Given the description of an element on the screen output the (x, y) to click on. 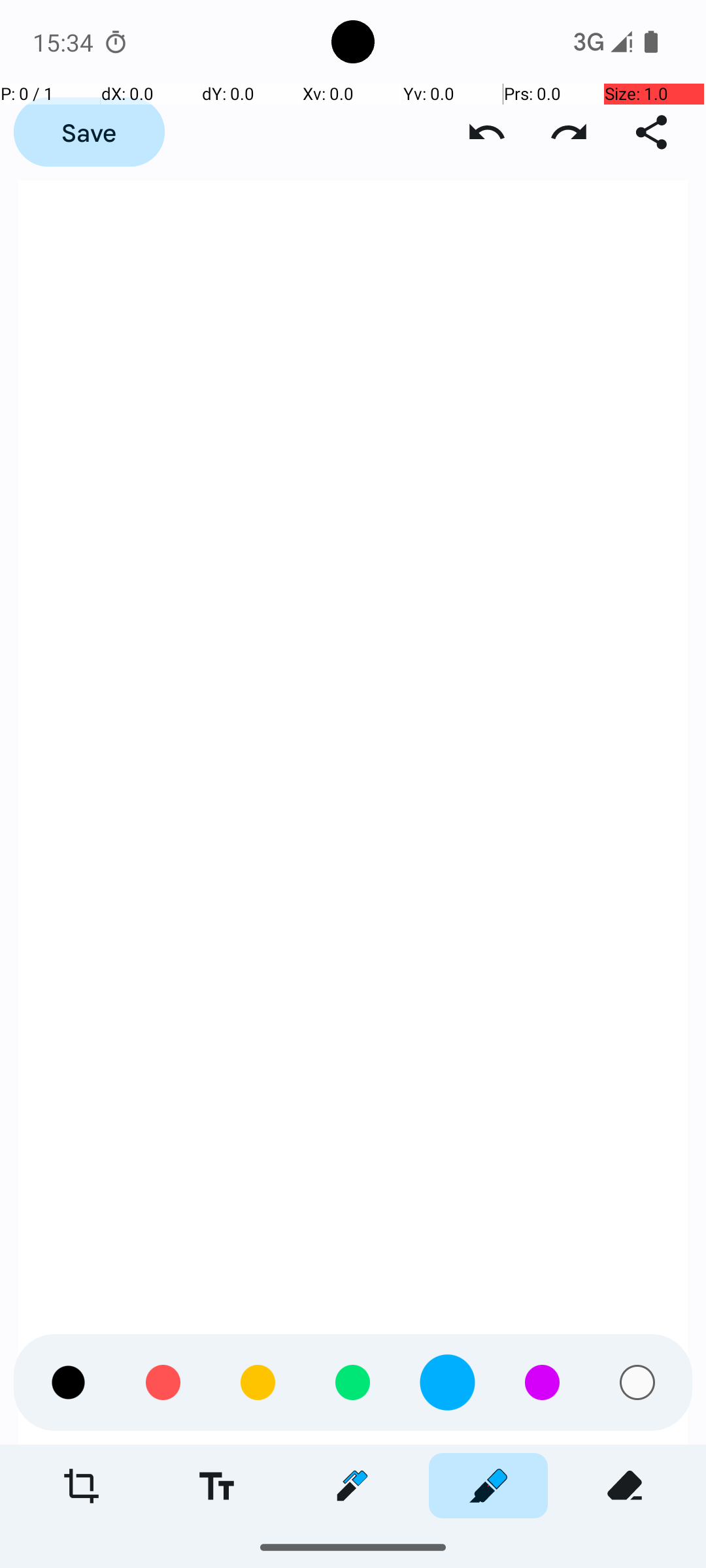
Drawing canvas Element type: android.widget.LinearLayout (353, 812)
Black Element type: android.view.View (67, 1449)
Red Element type: android.view.View (162, 1449)
Yellow Element type: android.view.View (257, 1449)
Green Element type: android.view.View (352, 1449)
Blue Element type: android.view.View (447, 1449)
Purple Element type: android.view.View (541, 1449)
White Element type: android.view.View (637, 1449)
Crop Element type: android.widget.Button (81, 1485)
Pen Element type: android.widget.Button (352, 1485)
Highlighter: Blue Element type: android.widget.Button (488, 1485)
